Given the description of an element on the screen output the (x, y) to click on. 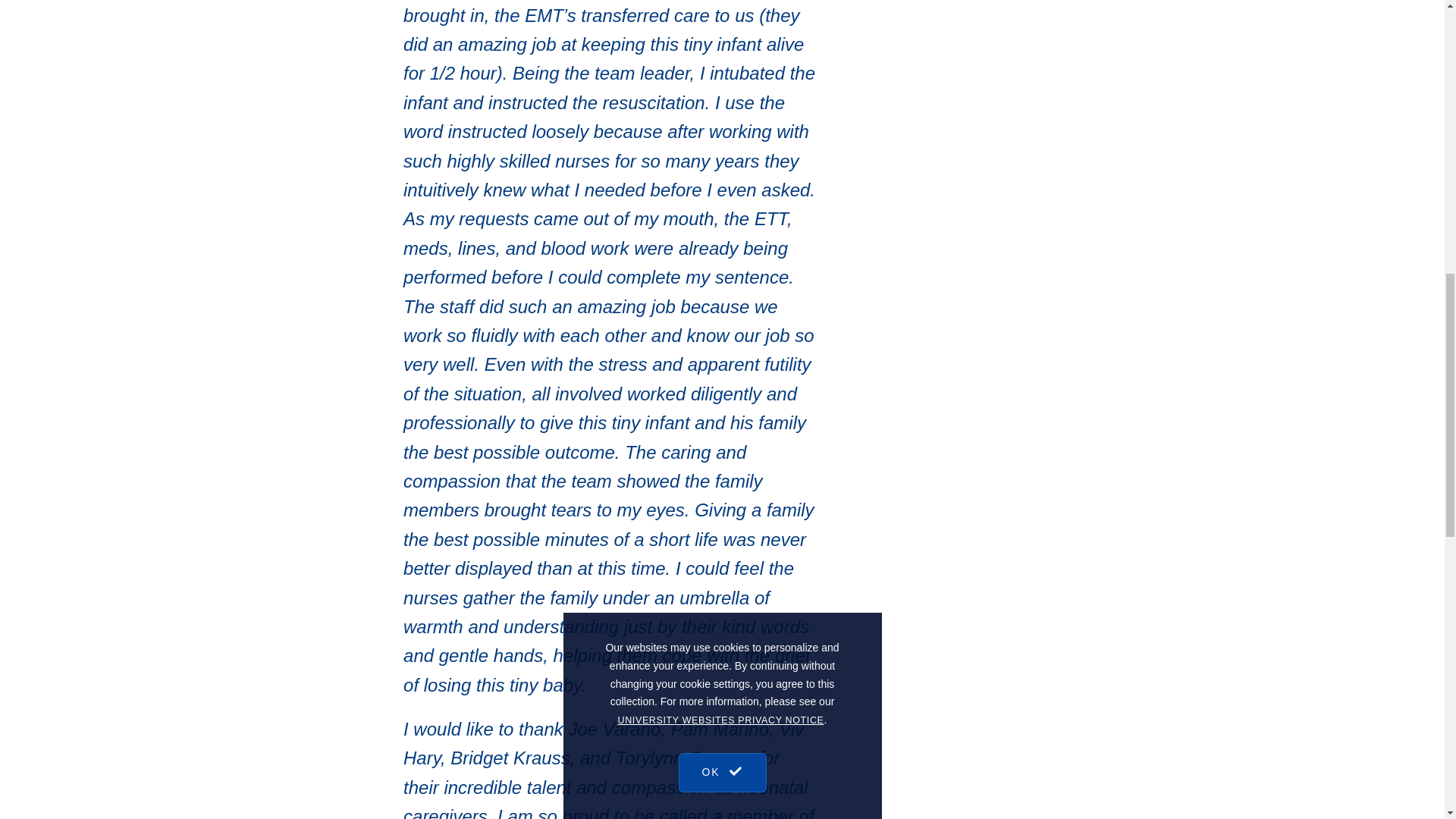
UNIVERSITY WEBSITES PRIVACY NOTICE (720, 53)
OK (721, 98)
